Given the description of an element on the screen output the (x, y) to click on. 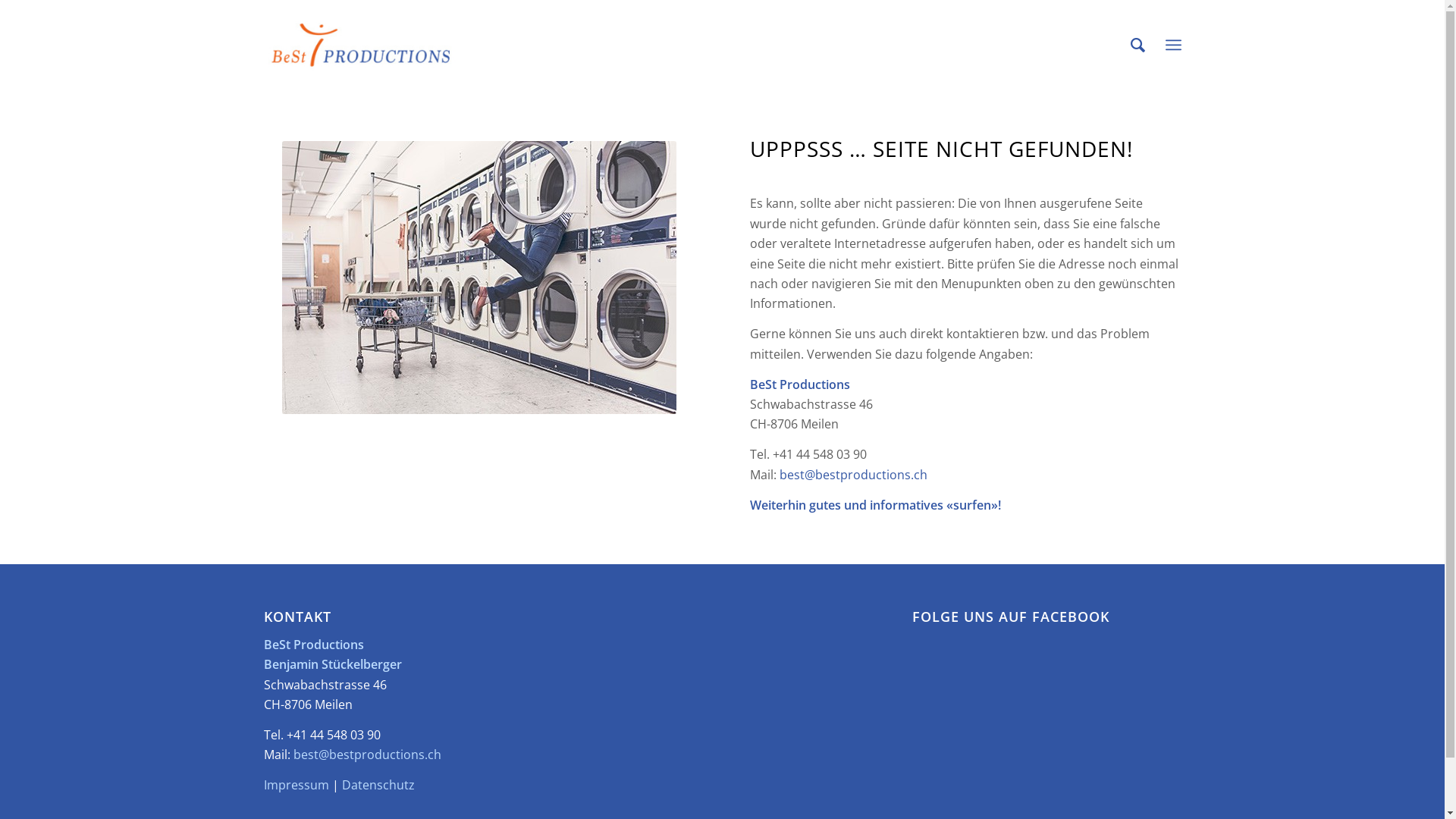
best@bestproductions.ch Element type: text (853, 474)
Seite nicht gefunden Element type: hover (479, 277)
Datenschutz Element type: text (377, 784)
Impressum Element type: text (296, 784)
best@bestproductions.ch Element type: text (366, 754)
